Given the description of an element on the screen output the (x, y) to click on. 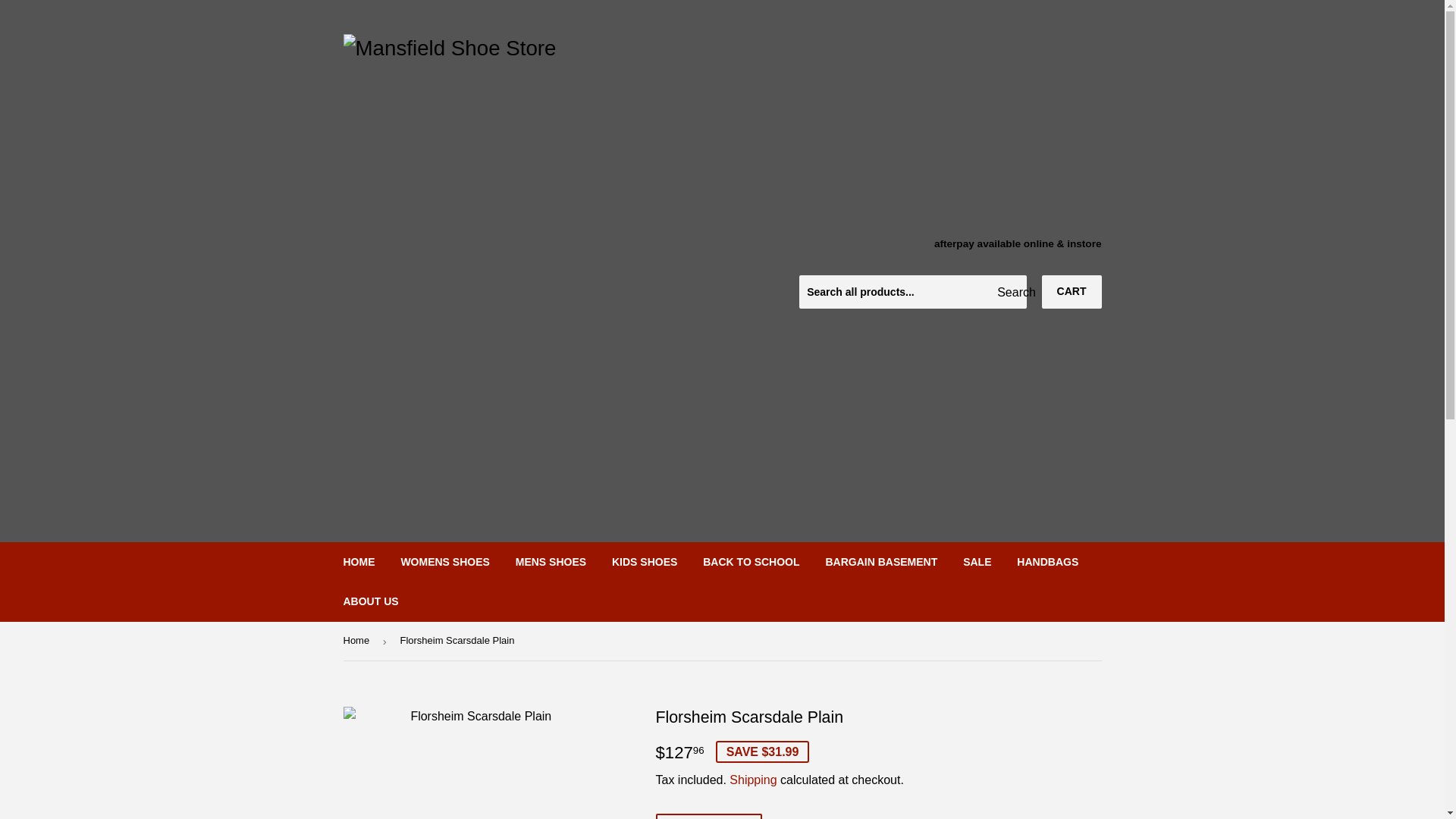
SALE (977, 561)
CART (1072, 291)
ABOUT US (370, 600)
MENS SHOES (549, 561)
ADD TO CART (708, 816)
HANDBAGS (1047, 561)
HOME (359, 561)
KIDS SHOES (643, 561)
WOMENS SHOES (444, 561)
Shipping (752, 779)
BACK TO SCHOOL (750, 561)
Search (1009, 292)
BARGAIN BASEMENT (881, 561)
